Given the description of an element on the screen output the (x, y) to click on. 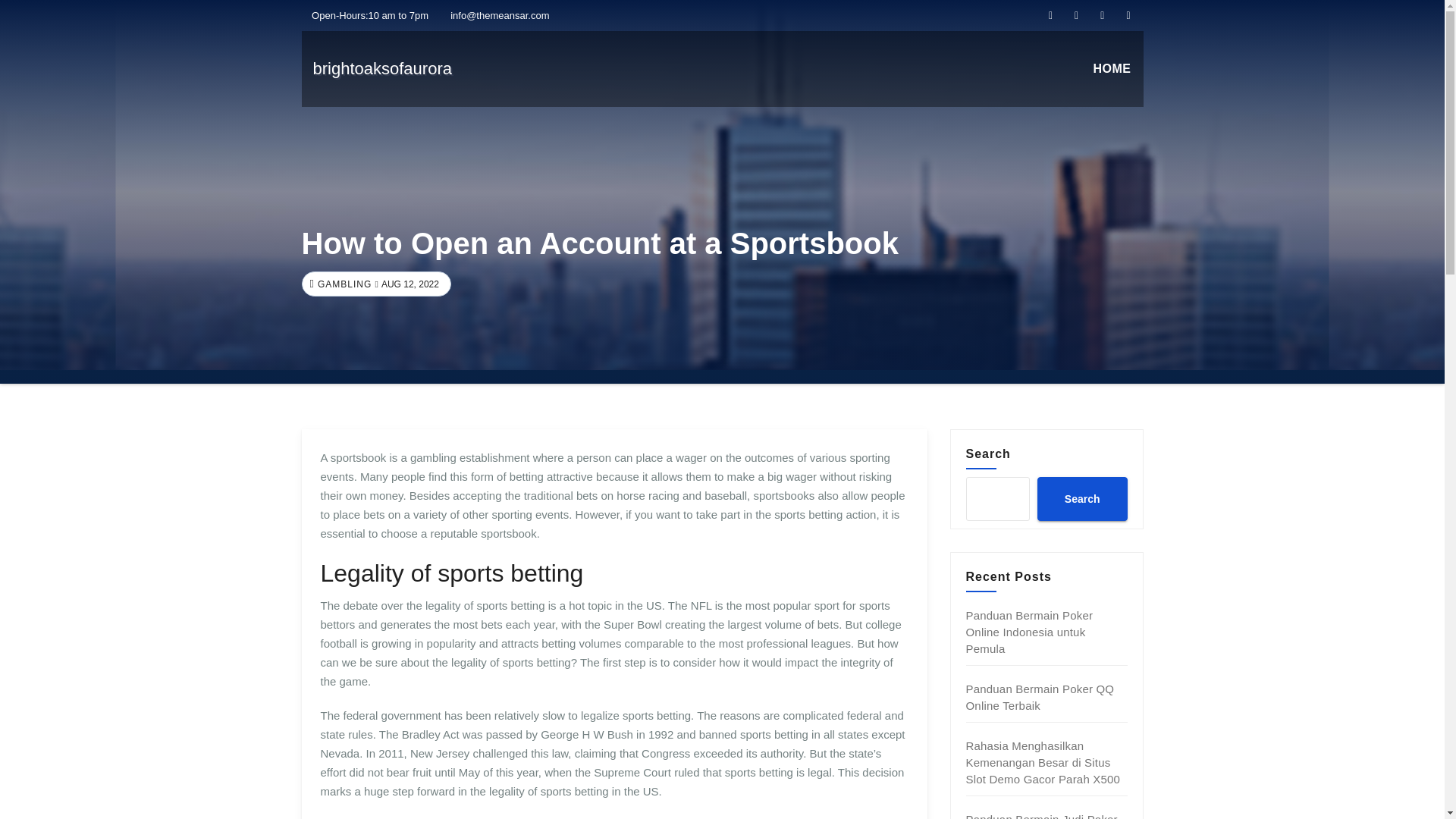
Panduan Bermain Poker Online Indonesia untuk Pemula (1029, 632)
GAMBLING (342, 284)
Open-Hours:10 am to 7pm (365, 15)
Panduan Bermain Poker QQ Online Terbaik (1040, 696)
brightoaksofaurora (382, 68)
Search (1081, 498)
Panduan Bermain Judi Poker Online untuk Pemula (1042, 816)
